Given the description of an element on the screen output the (x, y) to click on. 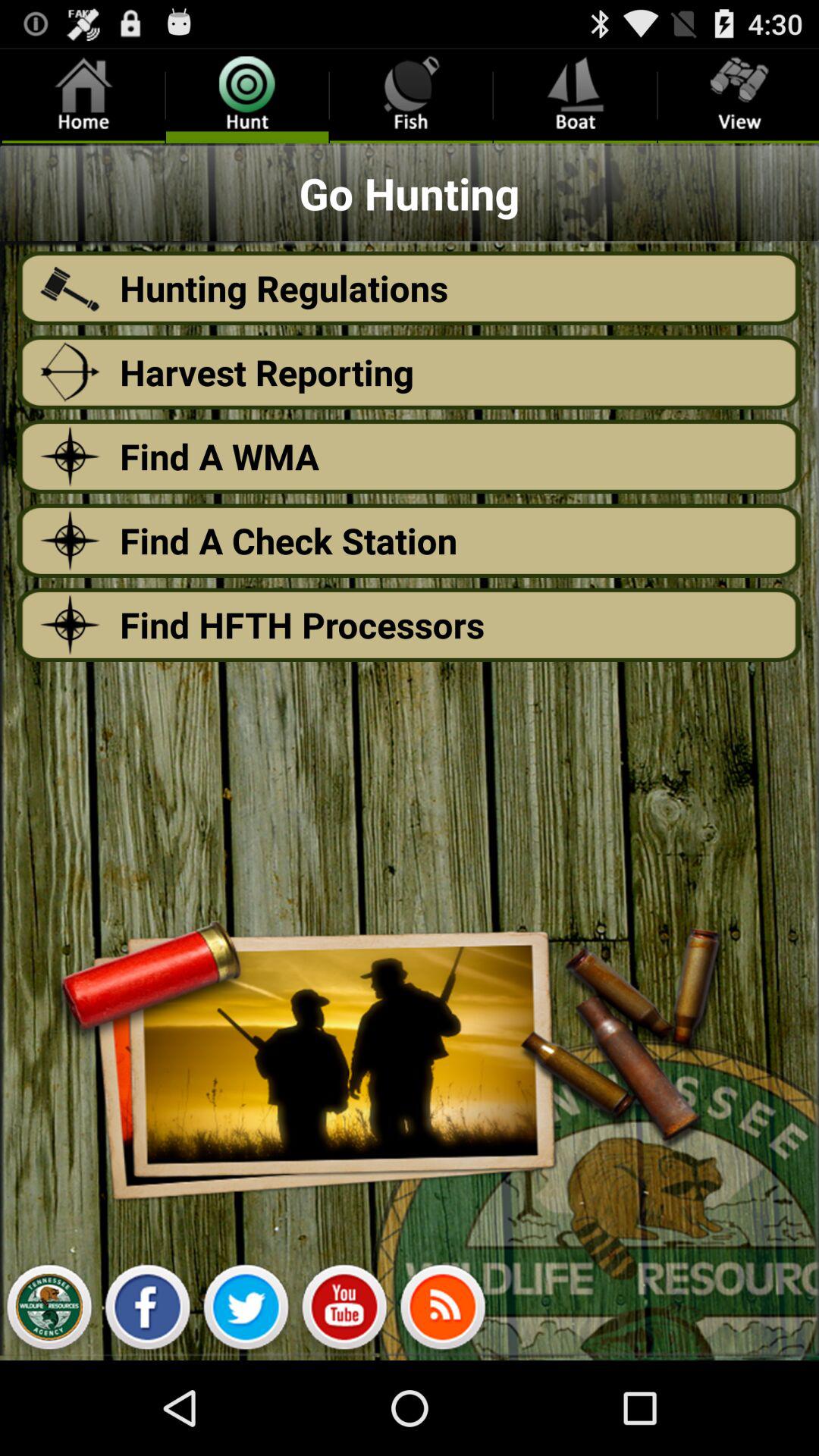
share in facebool (147, 1311)
